Given the description of an element on the screen output the (x, y) to click on. 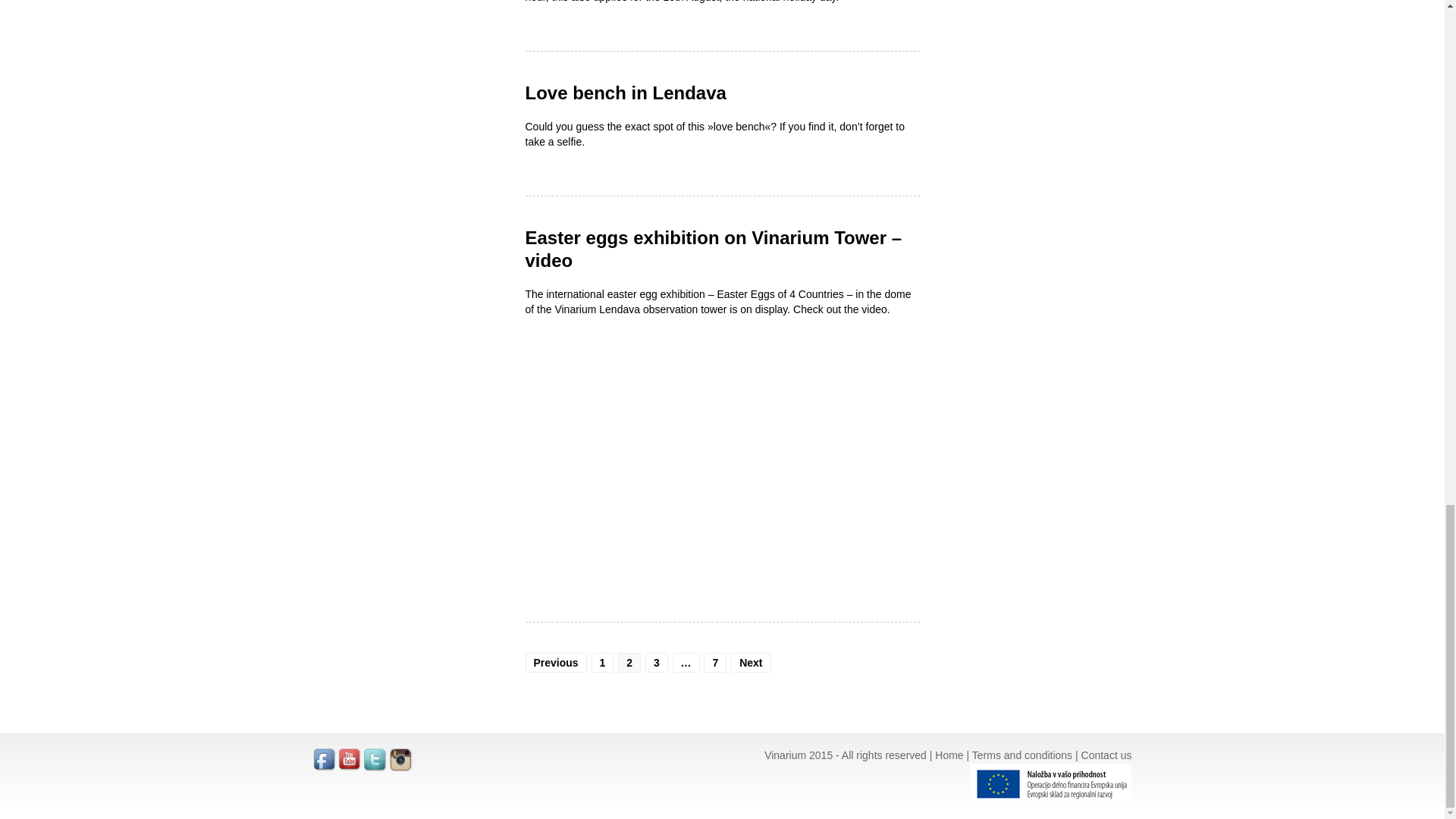
Love bench in Lendava (624, 92)
3 (656, 662)
1 (602, 662)
7 (714, 662)
Home (948, 755)
Next (750, 662)
Love bench in Lendava (624, 92)
Previous (555, 662)
